Given the description of an element on the screen output the (x, y) to click on. 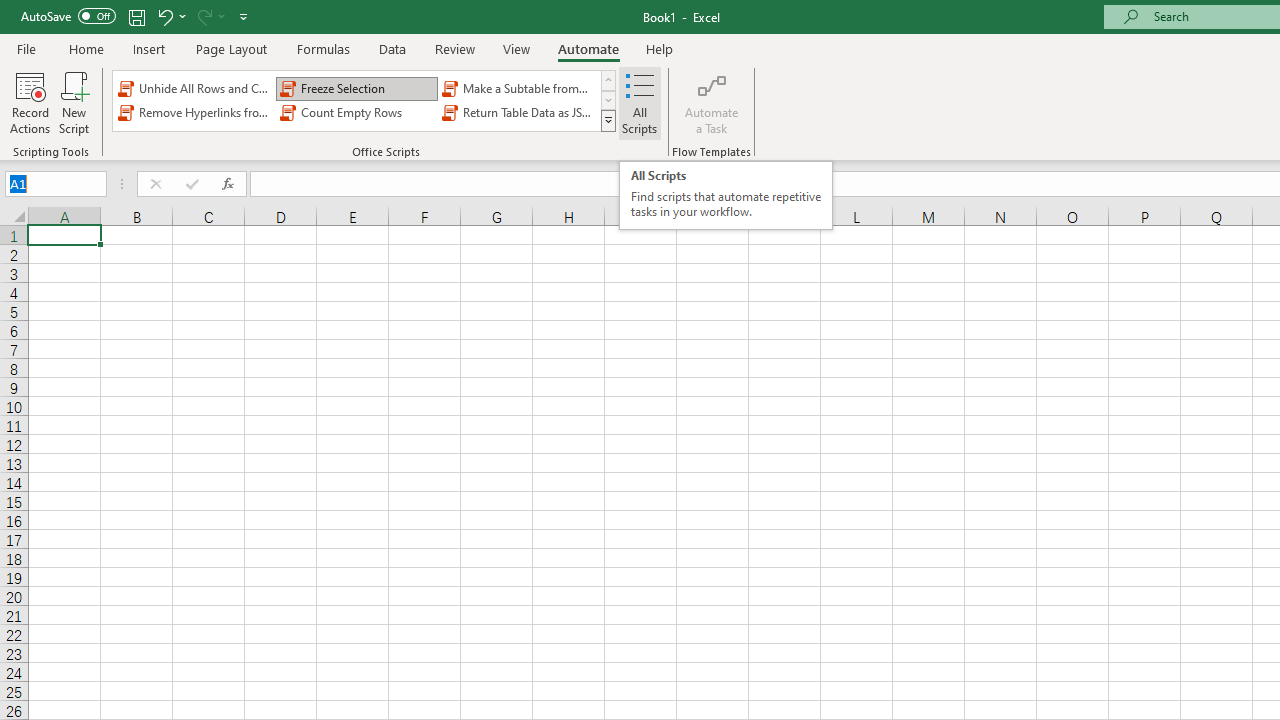
AutomationID: OfficeScriptsGallery (365, 100)
Row Down (608, 100)
Undo (170, 15)
Record Actions (29, 102)
System (10, 11)
Page Layout (230, 48)
Help (660, 48)
Class: NetUIImage (609, 120)
Count Empty Rows (356, 112)
Undo (164, 15)
Redo (203, 15)
Freeze Selection (356, 88)
Customize Quick Access Toolbar (244, 15)
Name Box (56, 183)
Home (86, 48)
